Given the description of an element on the screen output the (x, y) to click on. 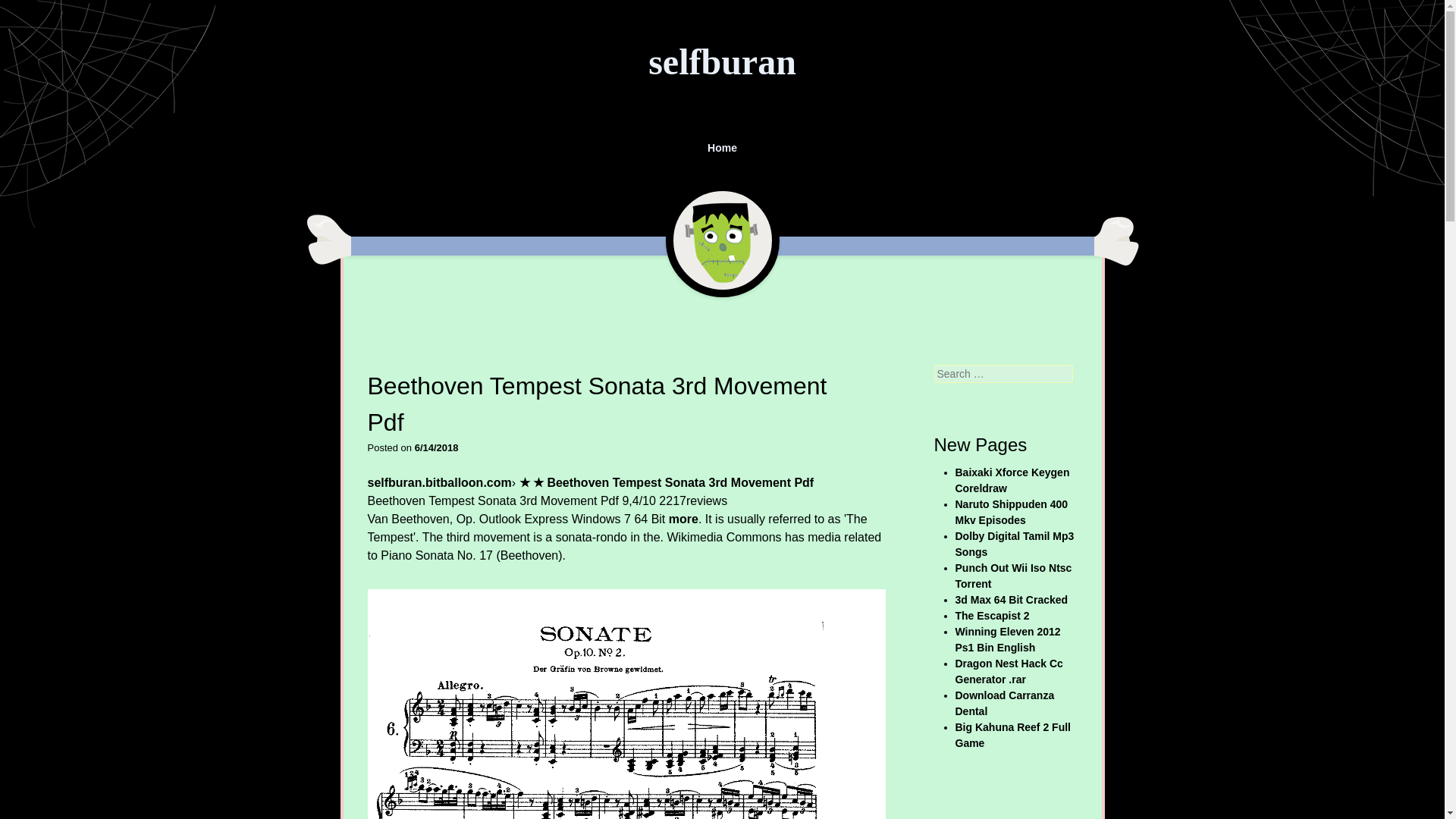
more (683, 518)
selfburan (721, 61)
Tempest Sonata 3rd Movement (625, 703)
3d Max 64 Bit Cracked (1011, 599)
Winning Eleven 2012 Ps1 Bin English (1008, 639)
selfburan.bitballoon.com (438, 481)
Skip to content (350, 140)
Search (28, 11)
Download Carranza Dental (1004, 703)
Home (722, 148)
Big Kahuna Reef 2 Full Game (1012, 735)
Dolby Digital Tamil Mp3 Songs (1014, 543)
The Escapist 2 (992, 615)
selfburan (721, 61)
Punch Out Wii Iso Ntsc Torrent (1013, 575)
